Given the description of an element on the screen output the (x, y) to click on. 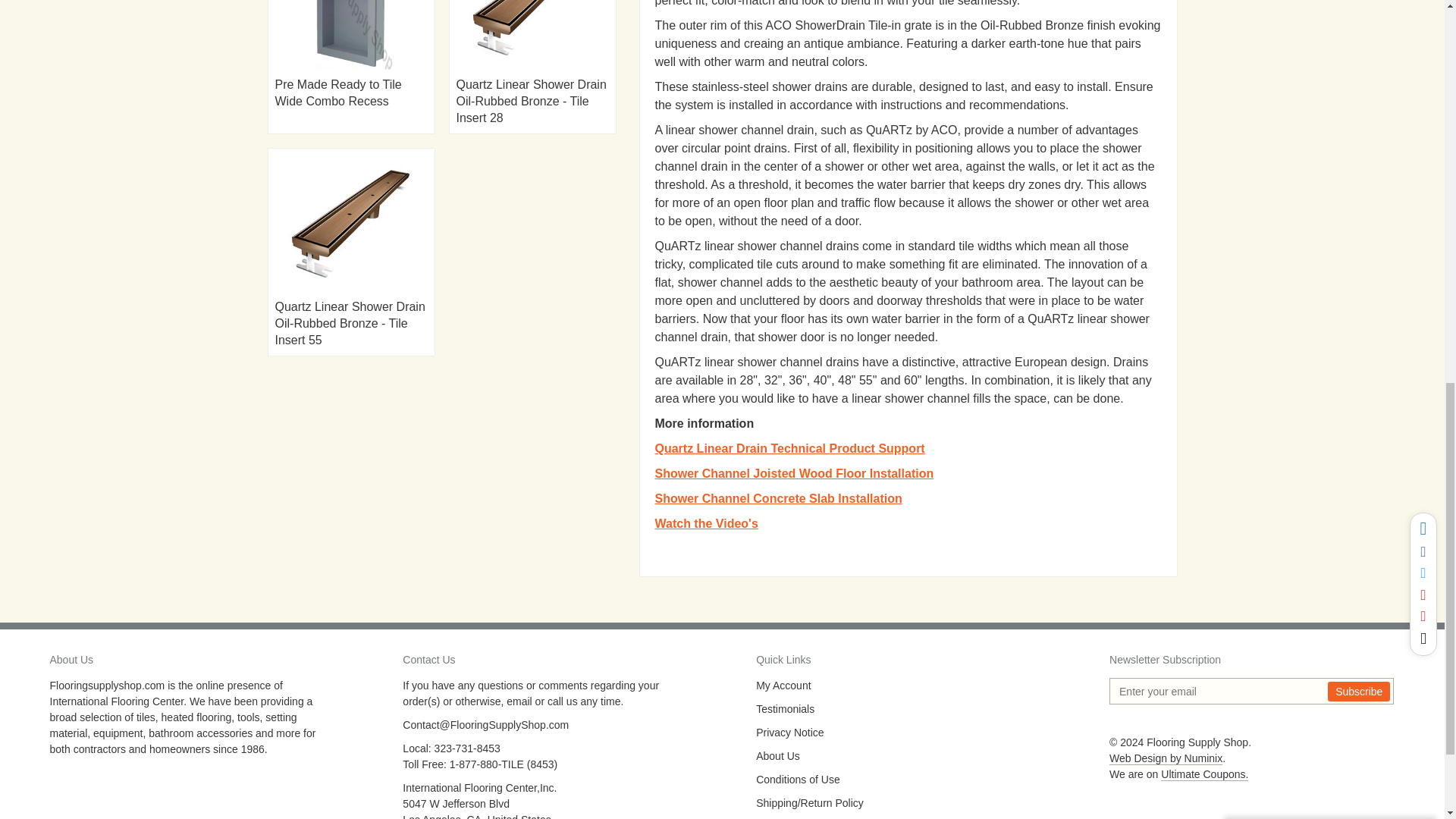
QuARTz by Aco Linear Shower Drain video (706, 522)
Flooring Supply Shop coupons (1203, 774)
Quartz Linear Drain Technical Product Support (789, 448)
Shower Channel Concrete Slab Installation (778, 498)
Shower Channel Joisted Wood Floor Installation (794, 472)
